Given the description of an element on the screen output the (x, y) to click on. 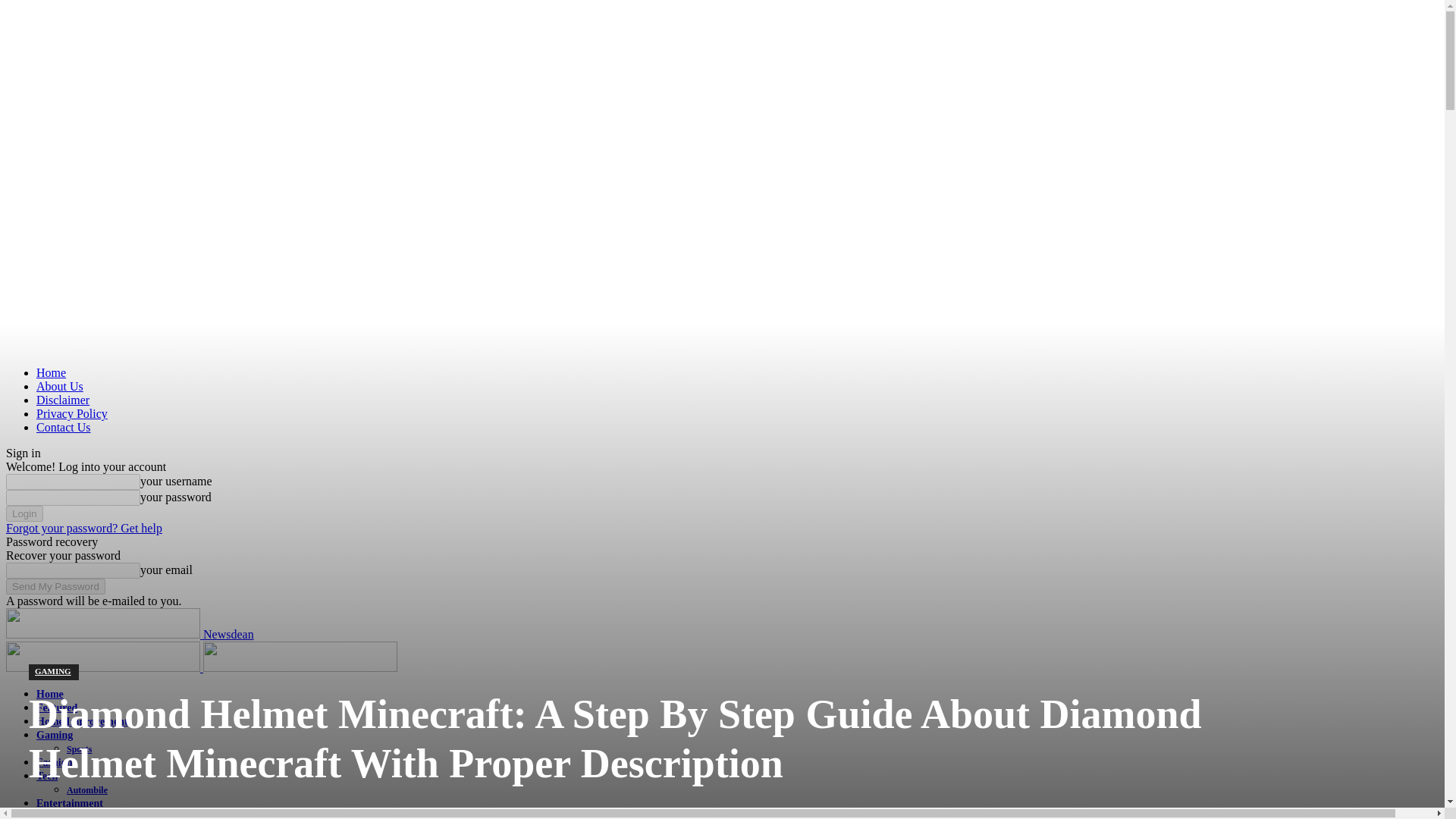
Disclaimer (62, 399)
Home (50, 372)
Send My Password (54, 586)
Contact Us (63, 427)
Forgot your password? Get help (83, 527)
Login (24, 513)
Privacy Policy (71, 413)
About Us (59, 386)
Newsdean (129, 634)
